Given the description of an element on the screen output the (x, y) to click on. 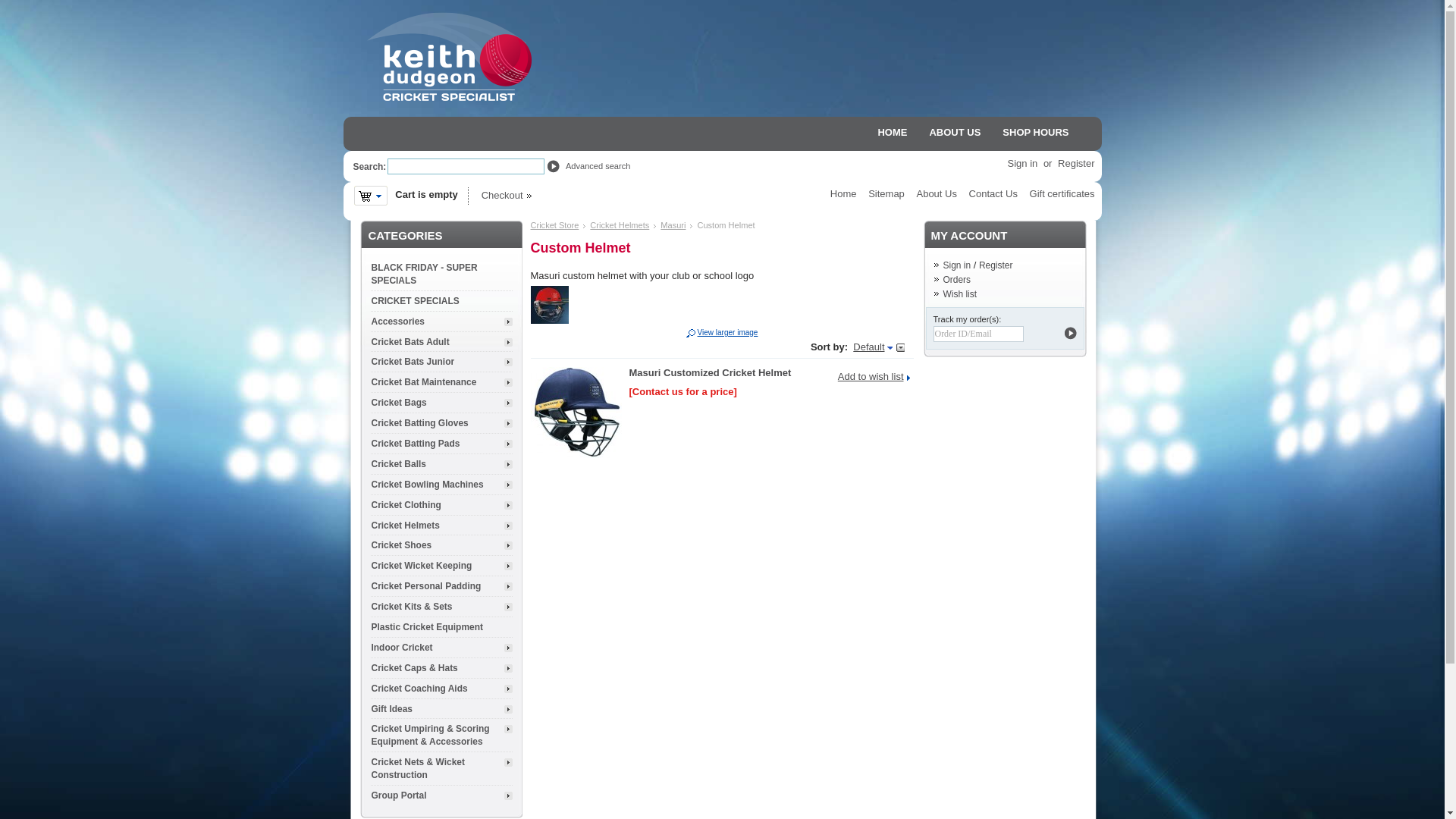
Go Element type: hover (1068, 333)
Register Element type: text (1075, 163)
Plastic Cricket Equipment Element type: text (441, 627)
Cricket Helmets Element type: text (441, 525)
Gift certificates Element type: text (1062, 193)
Sitemap Element type: text (886, 193)
Orders Element type: text (957, 279)
Search Element type: hover (552, 166)
Cricket Store Element type: text (554, 224)
Gift Ideas Element type: text (441, 708)
View larger image Element type: text (722, 332)
Cricket Bat Maintenance Element type: text (441, 382)
Indoor Cricket Element type: text (441, 647)
Advanced search Element type: text (599, 165)
BLACK FRIDAY - SUPER SPECIALS Element type: text (441, 273)
Sign in Element type: text (957, 265)
Group Portal Element type: text (441, 795)
Contact Us Element type: text (993, 193)
Sign in Element type: text (1022, 163)
Cricket Helmets Element type: text (619, 224)
Cricket Bats Junior Element type: text (441, 361)
About Us Element type: text (936, 193)
Masuri custom cricket helmet Element type: hover (549, 320)
Cricket Batting Gloves Element type: text (441, 423)
Masuri Element type: text (672, 224)
CRICKET SPECIALS Element type: text (441, 300)
Masuri Customized Cricket Helmet Element type: text (710, 372)
HOME Element type: text (891, 132)
Wish list Element type: text (960, 293)
Cricket Bats Adult Element type: text (441, 341)
Cricket Caps & Hats Element type: text (441, 667)
Register Element type: text (996, 265)
Cricket Batting Pads Element type: text (441, 443)
SHOP HOURS Element type: text (1035, 132)
Cricket Coaching Aids Element type: text (441, 688)
Default Element type: text (872, 346)
Cricket Nets & Wicket Construction Element type: text (441, 768)
Add to wish list Element type: text (873, 376)
Home Element type: text (843, 193)
Cricket Bags Element type: text (441, 402)
Cart is empty Element type: hover (369, 195)
Cricket Umpiring & Scoring Equipment & Accessories Element type: text (441, 734)
Cricket Kits & Sets Element type: text (441, 606)
Cricket Personal Padding Element type: text (441, 586)
Cricket Bowling Machines Element type: text (441, 484)
Checkout Element type: text (505, 195)
ABOUT US Element type: text (954, 132)
Cricket Wicket Keeping Element type: text (441, 565)
Accessories Element type: text (441, 321)
Cricket Clothing Element type: text (441, 504)
Cricket Balls Element type: text (441, 463)
Cricket Shoes Element type: text (441, 545)
